Given the description of an element on the screen output the (x, y) to click on. 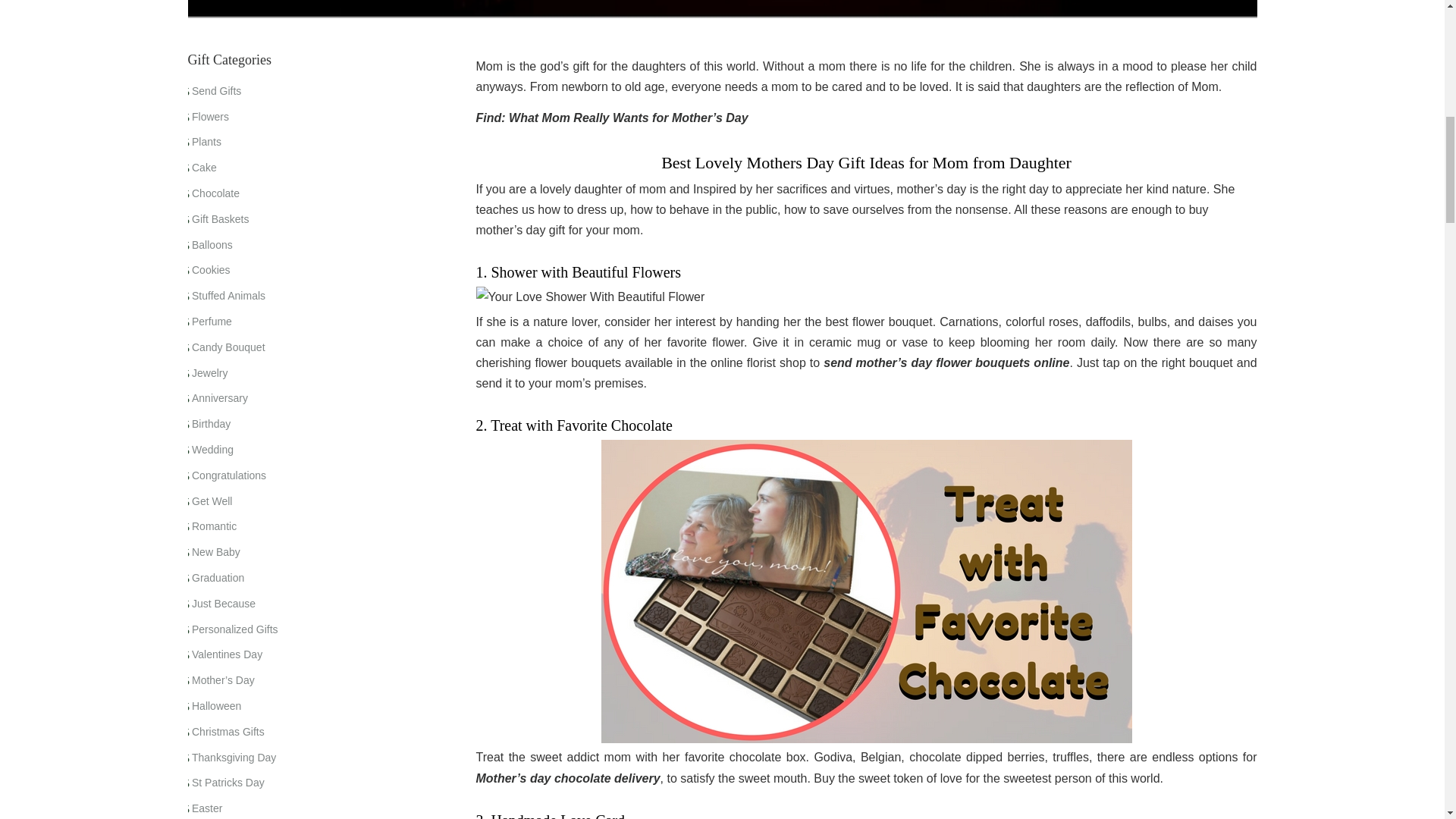
Plants (206, 141)
Chocolate (216, 193)
Get Well (211, 500)
Birthday (211, 423)
Candy Bouquet (228, 346)
Personalized Gifts (235, 629)
St Patricks Day (228, 782)
Shower with Beautiful Flowers (866, 296)
Cookies (211, 269)
Romantic (213, 526)
